Given the description of an element on the screen output the (x, y) to click on. 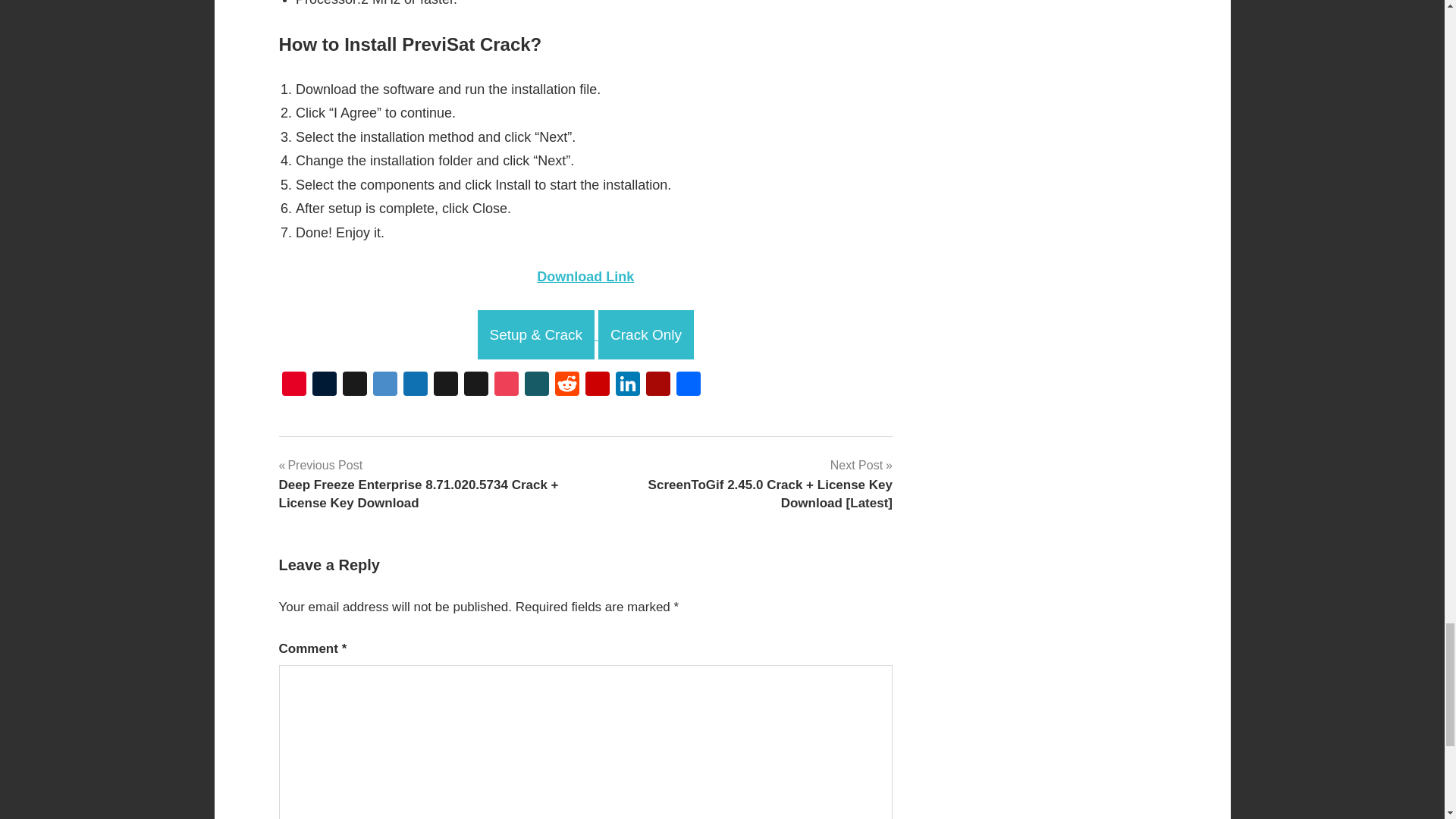
LinkedIn (627, 385)
Crack Only (646, 334)
Tumblr (323, 385)
MySpace (476, 385)
Tumblr (323, 385)
Diigo (384, 385)
Instapaper (445, 385)
BibSonomy (354, 385)
Pocket (506, 385)
Diigo (384, 385)
